Given the description of an element on the screen output the (x, y) to click on. 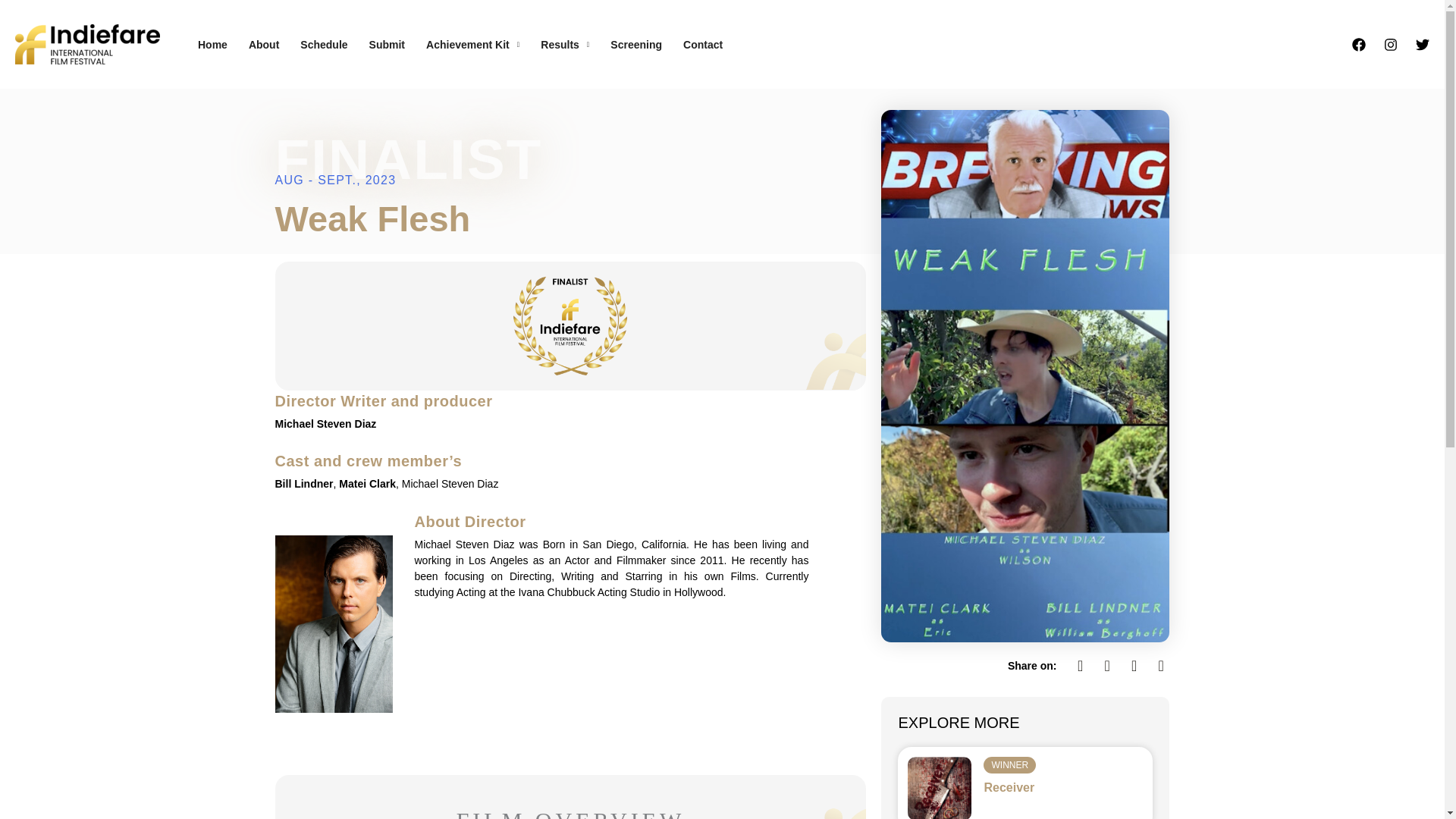
Results (564, 44)
Schedule (323, 44)
Achievement Kit (471, 44)
Submit (386, 44)
About (263, 44)
Home (212, 44)
